Given the description of an element on the screen output the (x, y) to click on. 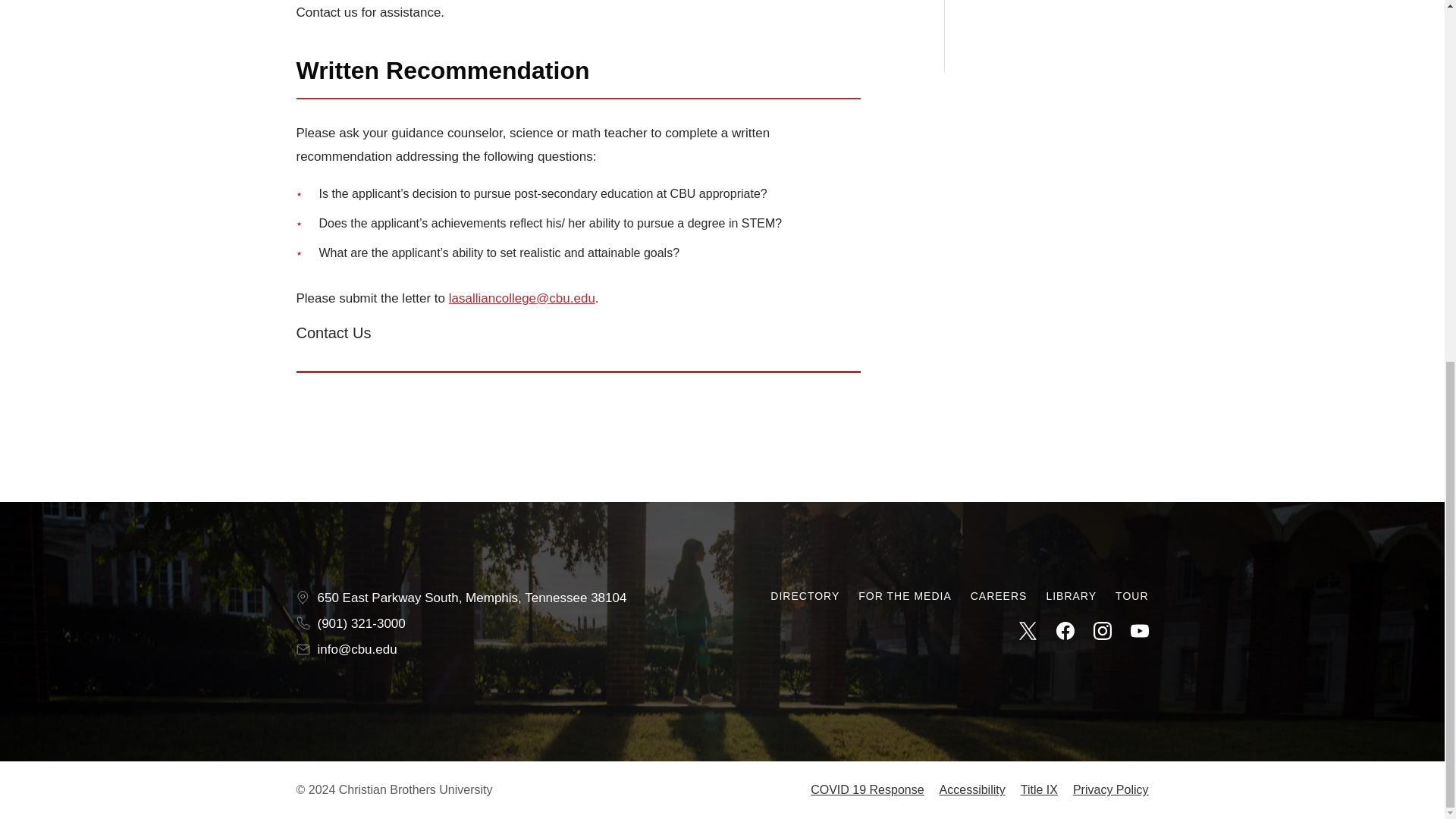
CBU on Twitter (1027, 630)
CBU on Facebook (1064, 630)
CBU on Instagram (1102, 630)
CBU on YouTube (1138, 630)
